Given the description of an element on the screen output the (x, y) to click on. 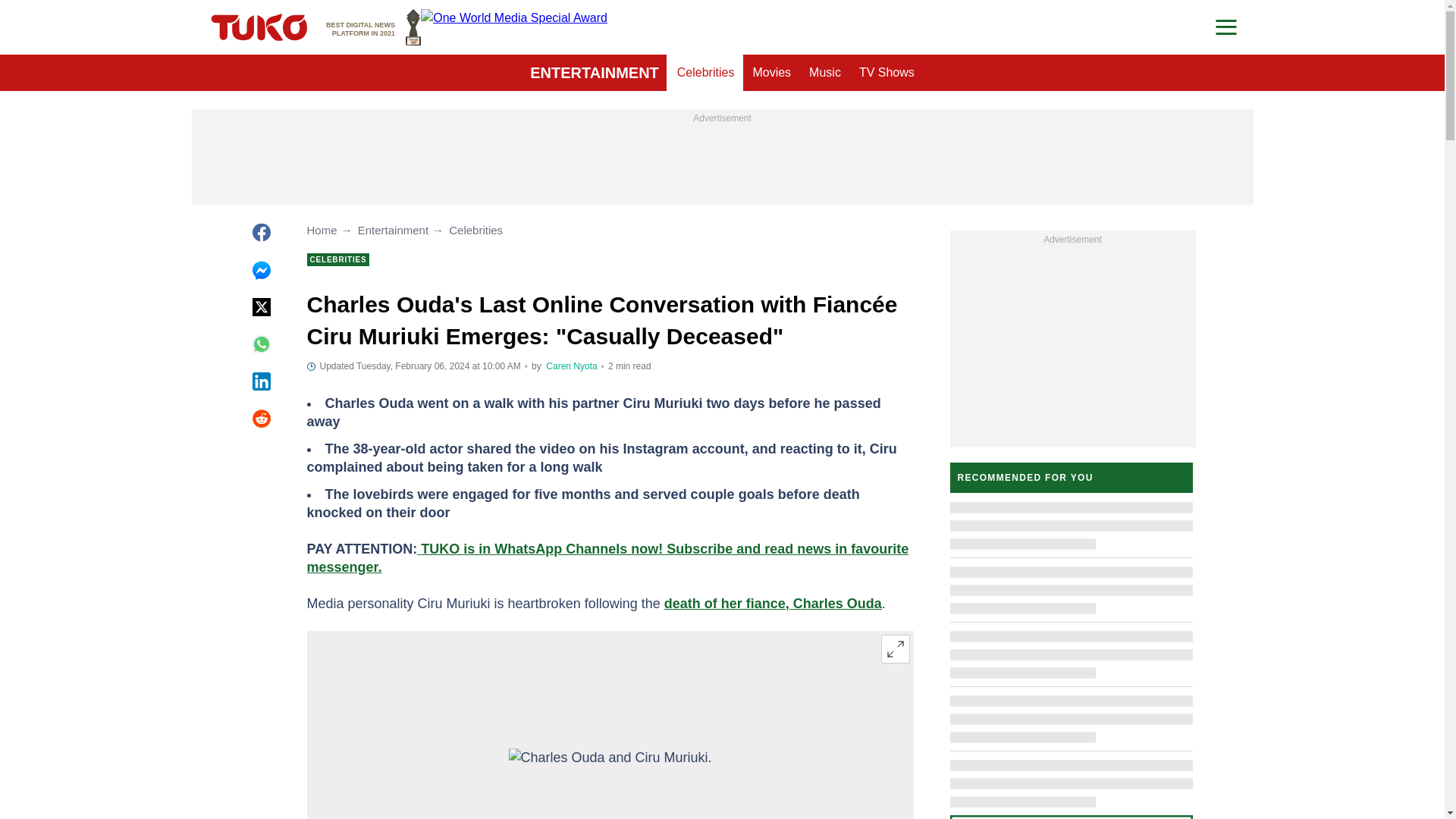
TV Shows (373, 27)
Celebrities (886, 72)
Charles Ouda and Ciru Muriuki. (706, 72)
Author page (609, 783)
Music (571, 366)
Movies (824, 72)
Expand image (770, 72)
ENTERTAINMENT (895, 648)
